Given the description of an element on the screen output the (x, y) to click on. 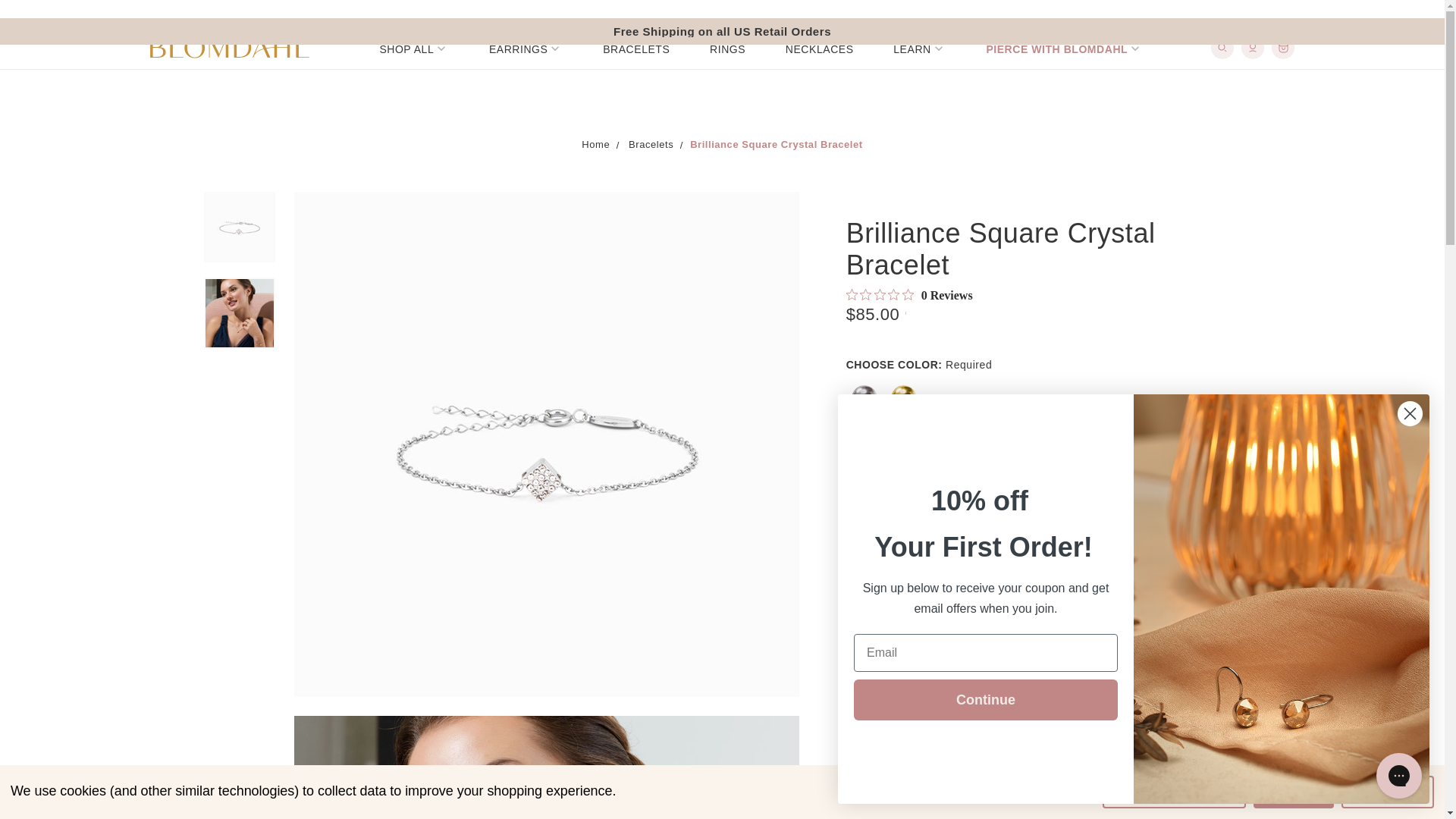
Silver Titanium (864, 397)
Golden Titanium (904, 397)
NECKLACES (819, 47)
Gorgias live chat messenger (1398, 775)
EARRINGS (526, 47)
LEARN (918, 47)
0 Reviews (908, 295)
Add to Bag (1011, 533)
Brilliance Square Crystal Bracelet (239, 313)
Brilliance Square Crystal Bracelet (546, 767)
RINGS (727, 47)
SHOP ALL (413, 47)
